Given the description of an element on the screen output the (x, y) to click on. 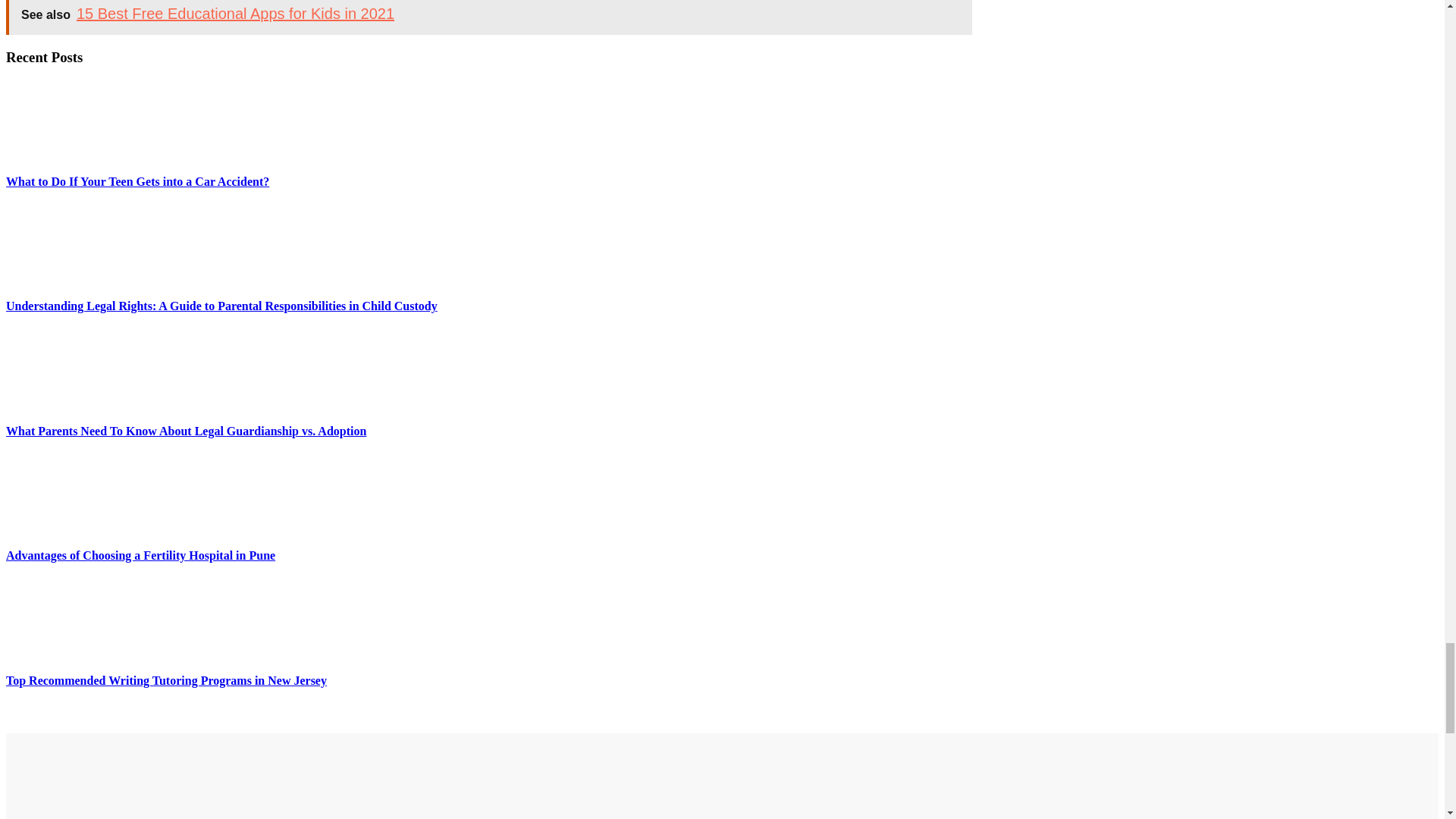
instagram (508, 780)
pinterest (465, 780)
twitter (552, 780)
facebook (422, 780)
